Given the description of an element on the screen output the (x, y) to click on. 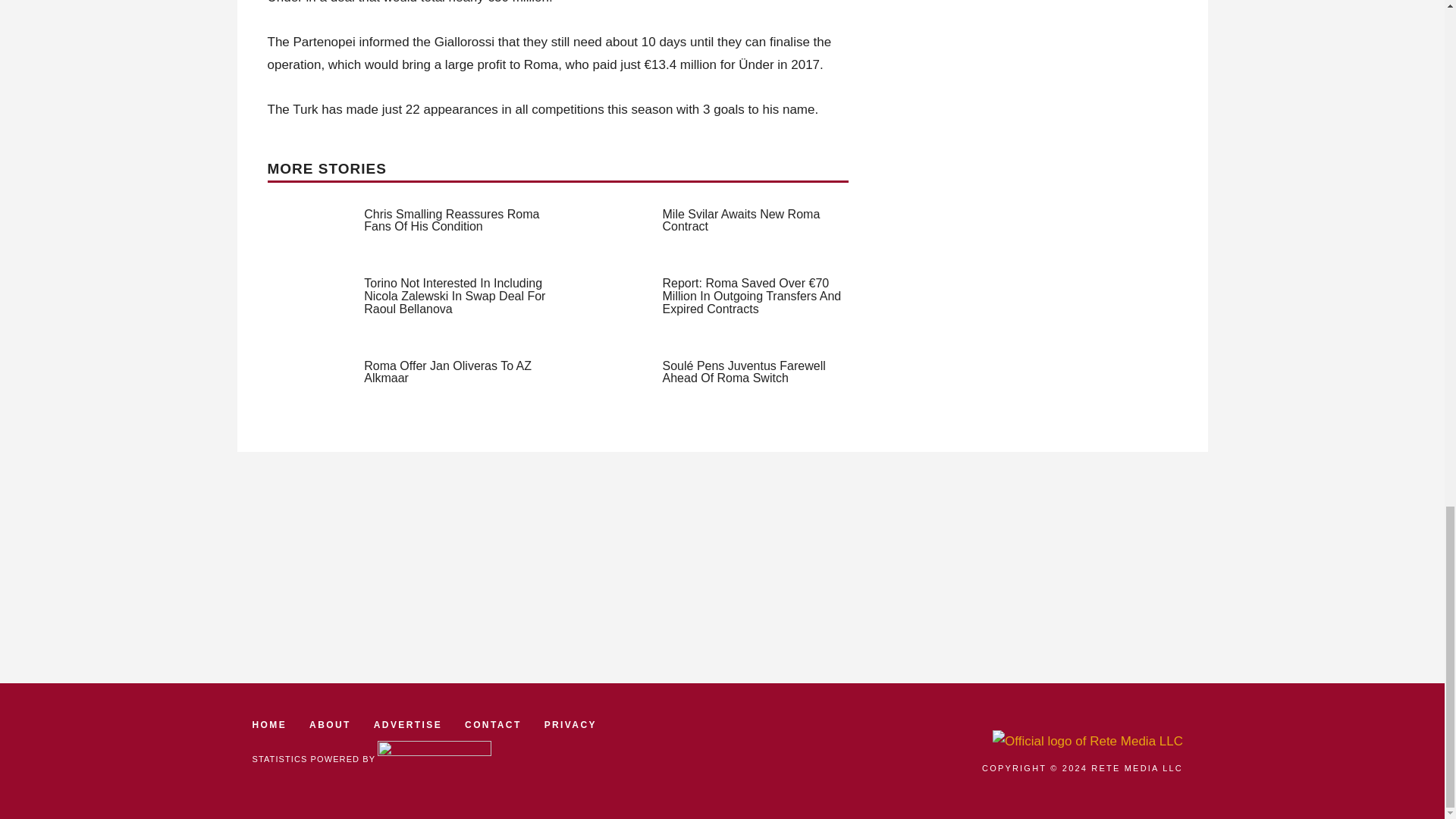
Mile Svilar Awaits New Roma Contract (741, 220)
CONTACT (492, 725)
HOME (268, 725)
ADVERTISE (408, 725)
PRIVACY (570, 725)
Chris Smalling Reassures Roma Fans Of His Condition (451, 220)
ABOUT (329, 725)
Roma Offer Jan Oliveras To AZ Alkmaar (447, 371)
